Given the description of an element on the screen output the (x, y) to click on. 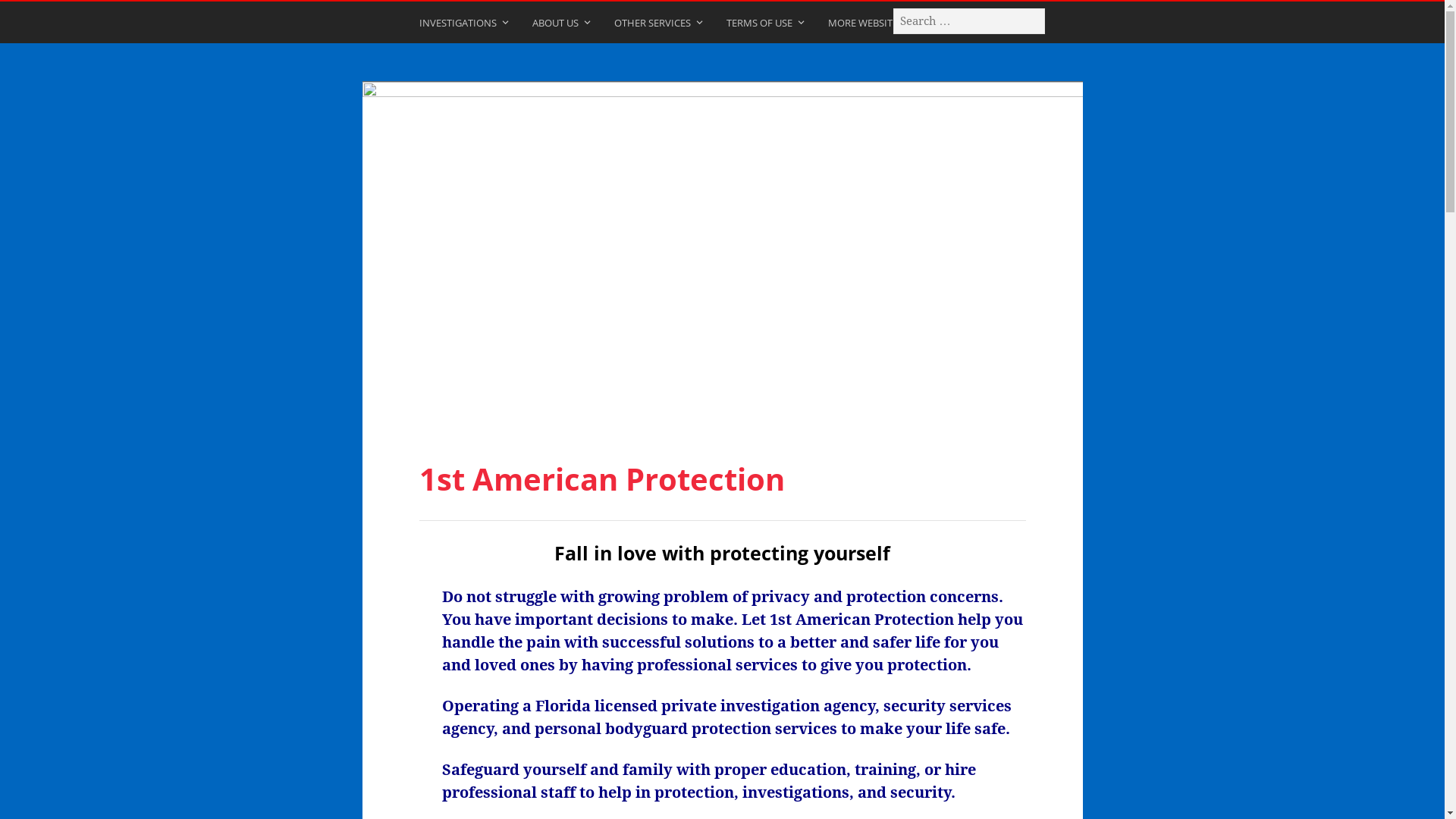
TERMS OF USE Element type: text (766, 26)
1st American Protection Element type: hover (722, 250)
OTHER SERVICES Element type: text (659, 26)
ABOUT US Element type: text (562, 26)
Search Element type: text (29, 16)
INVESTIGATIONS Element type: text (464, 26)
MORE WEBSITES Element type: text (872, 26)
